Given the description of an element on the screen output the (x, y) to click on. 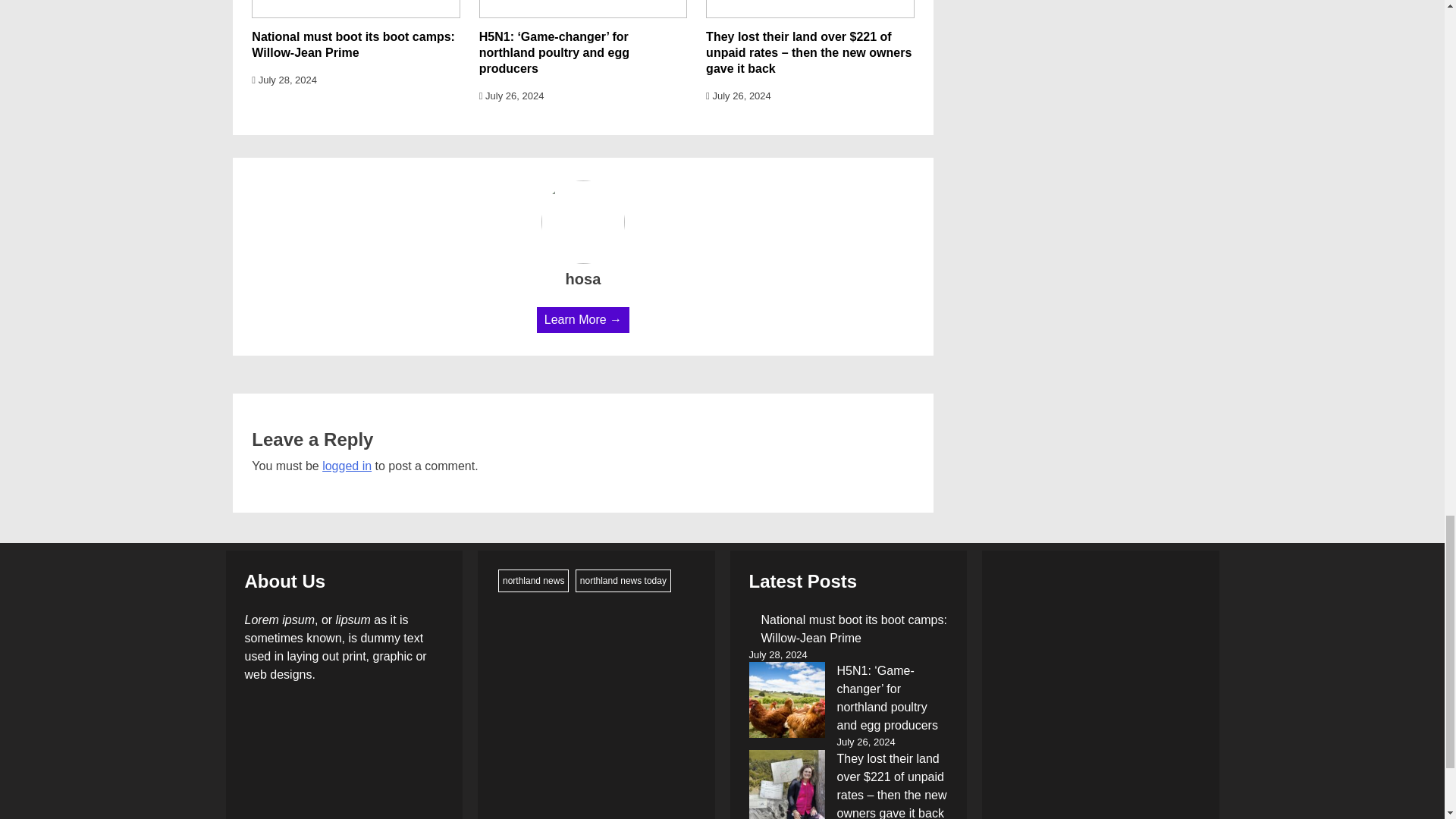
National must boot its boot camps: Willow-Jean Prime (352, 44)
July 26, 2024 (511, 95)
July 26, 2024 (738, 95)
July 28, 2024 (284, 79)
logged in (346, 465)
